Given the description of an element on the screen output the (x, y) to click on. 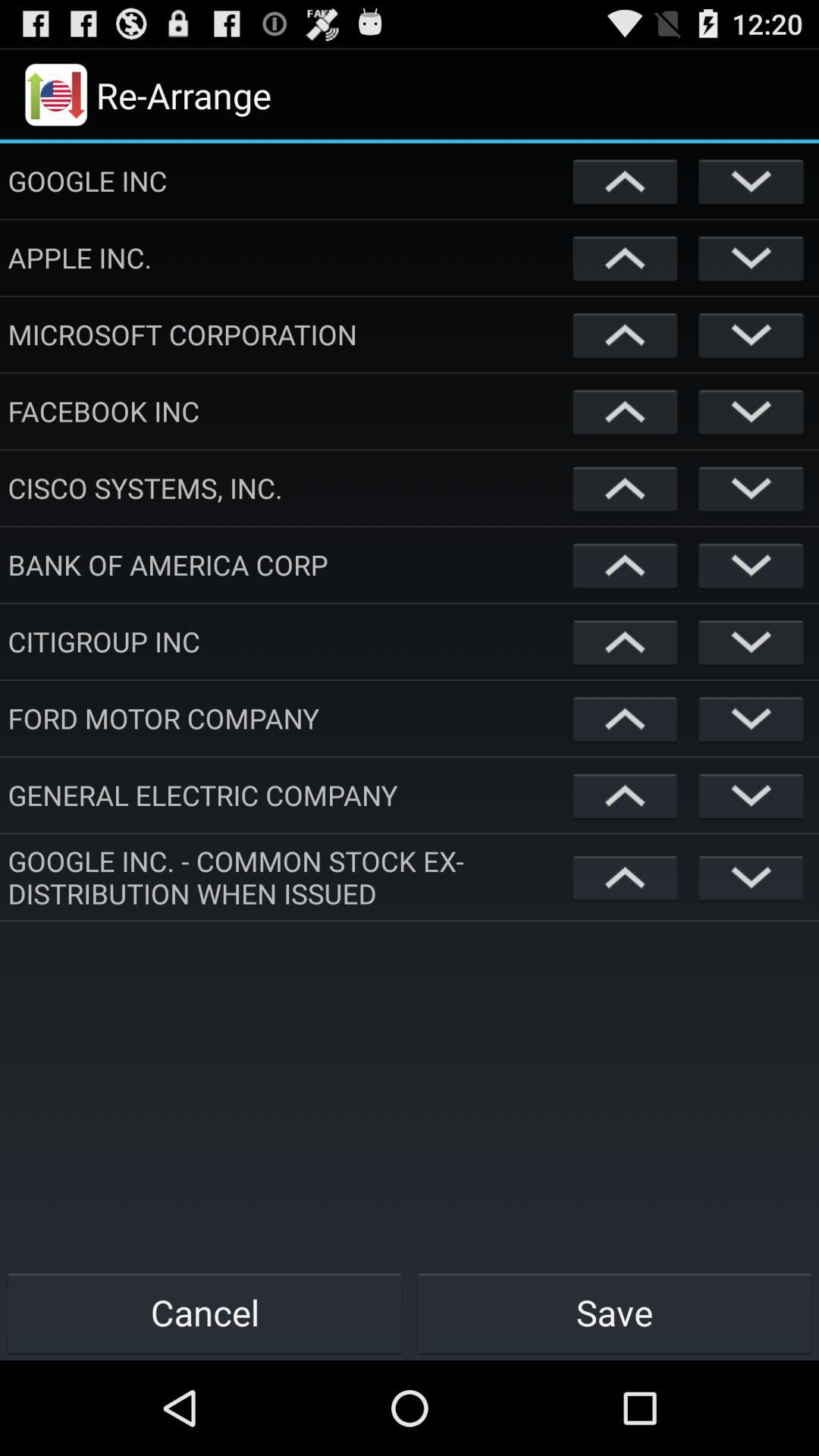
press the microsoft corporation icon (286, 334)
